Given the description of an element on the screen output the (x, y) to click on. 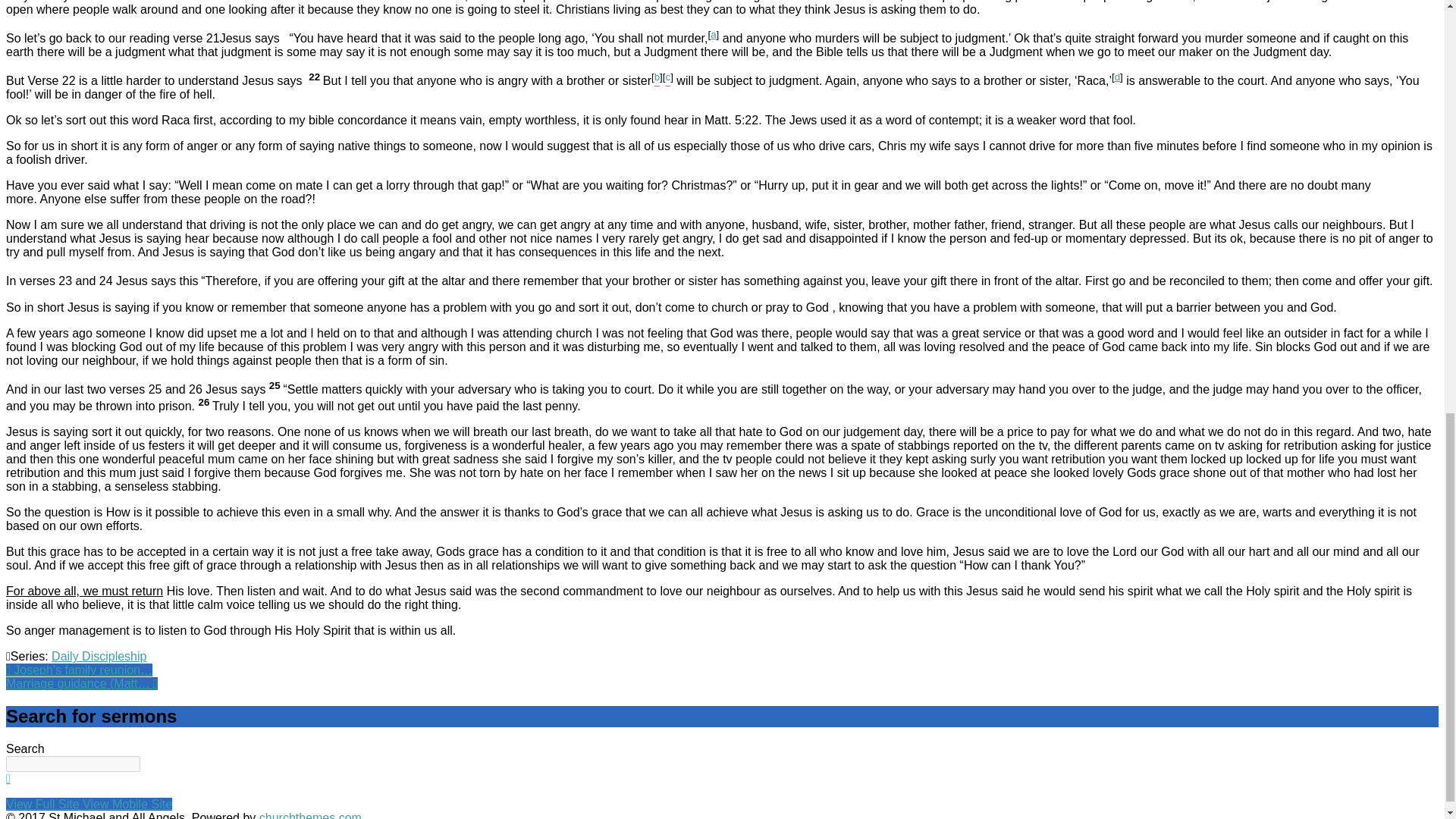
View Full Site (43, 803)
View Mobile Site (126, 803)
Daily Discipleship (98, 656)
